Given the description of an element on the screen output the (x, y) to click on. 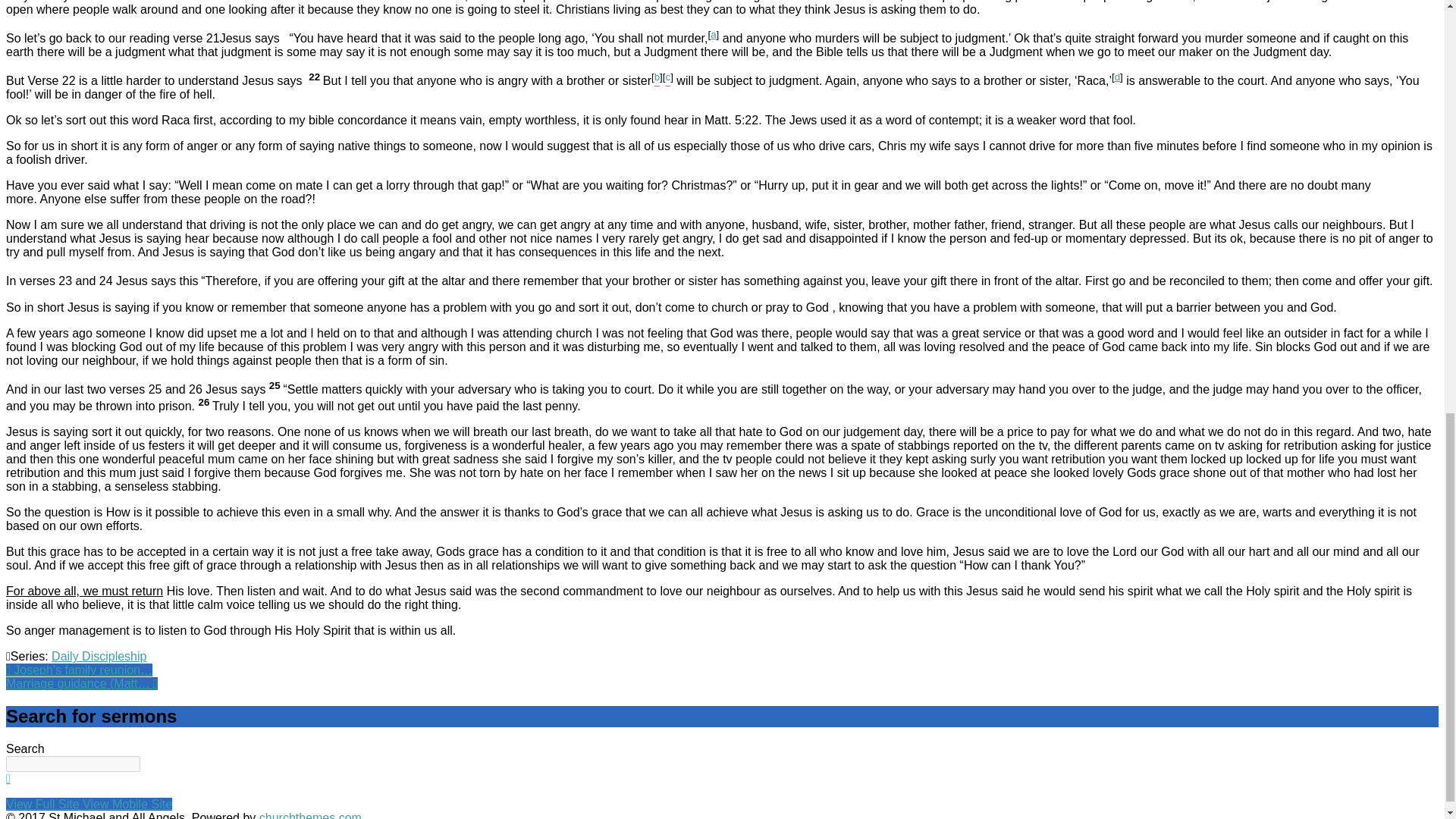
View Full Site (43, 803)
View Mobile Site (126, 803)
Daily Discipleship (98, 656)
